Given the description of an element on the screen output the (x, y) to click on. 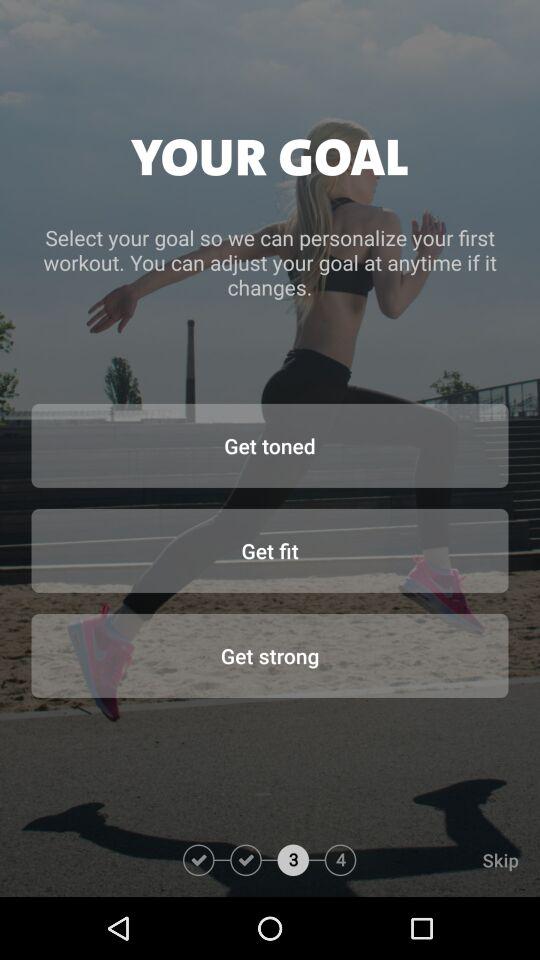
swipe to get strong item (269, 655)
